Given the description of an element on the screen output the (x, y) to click on. 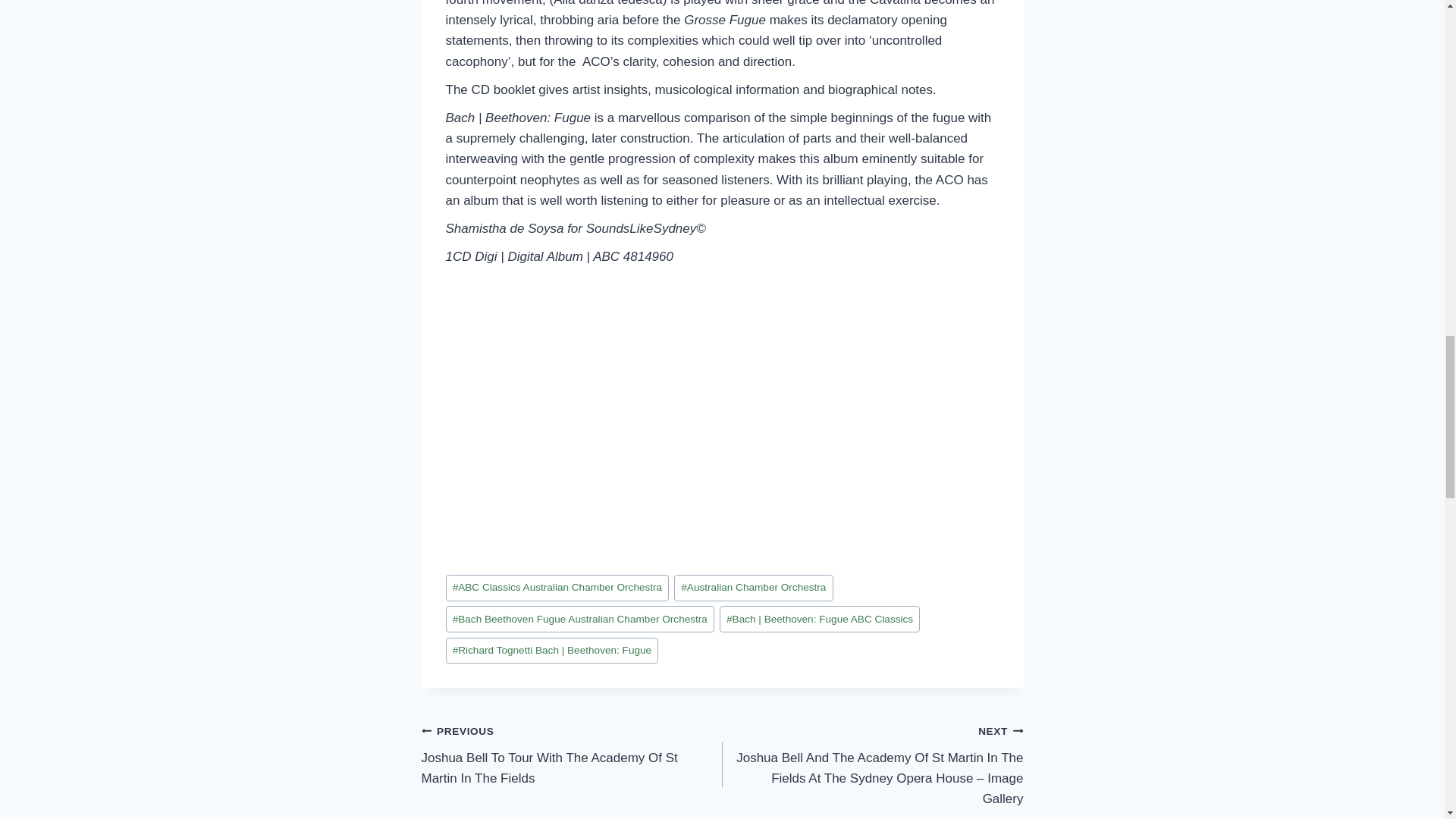
Bach Beethoven Fugue Australian Chamber Orchestra (579, 619)
Australian Chamber Orchestra (753, 587)
ABC Classics Australian Chamber Orchestra (557, 587)
